Given the description of an element on the screen output the (x, y) to click on. 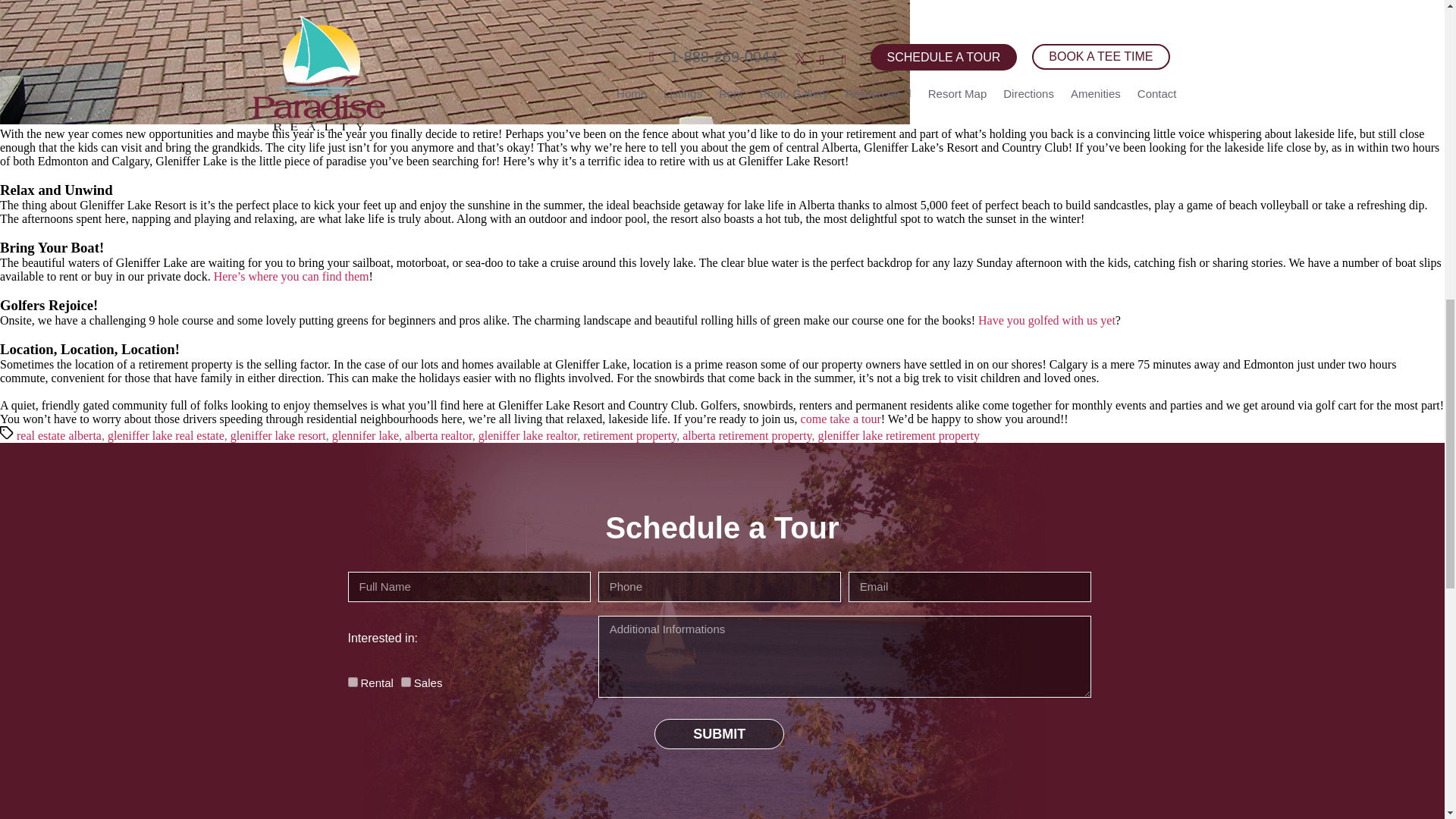
Rental (351, 682)
Sales (405, 682)
